Given the description of an element on the screen output the (x, y) to click on. 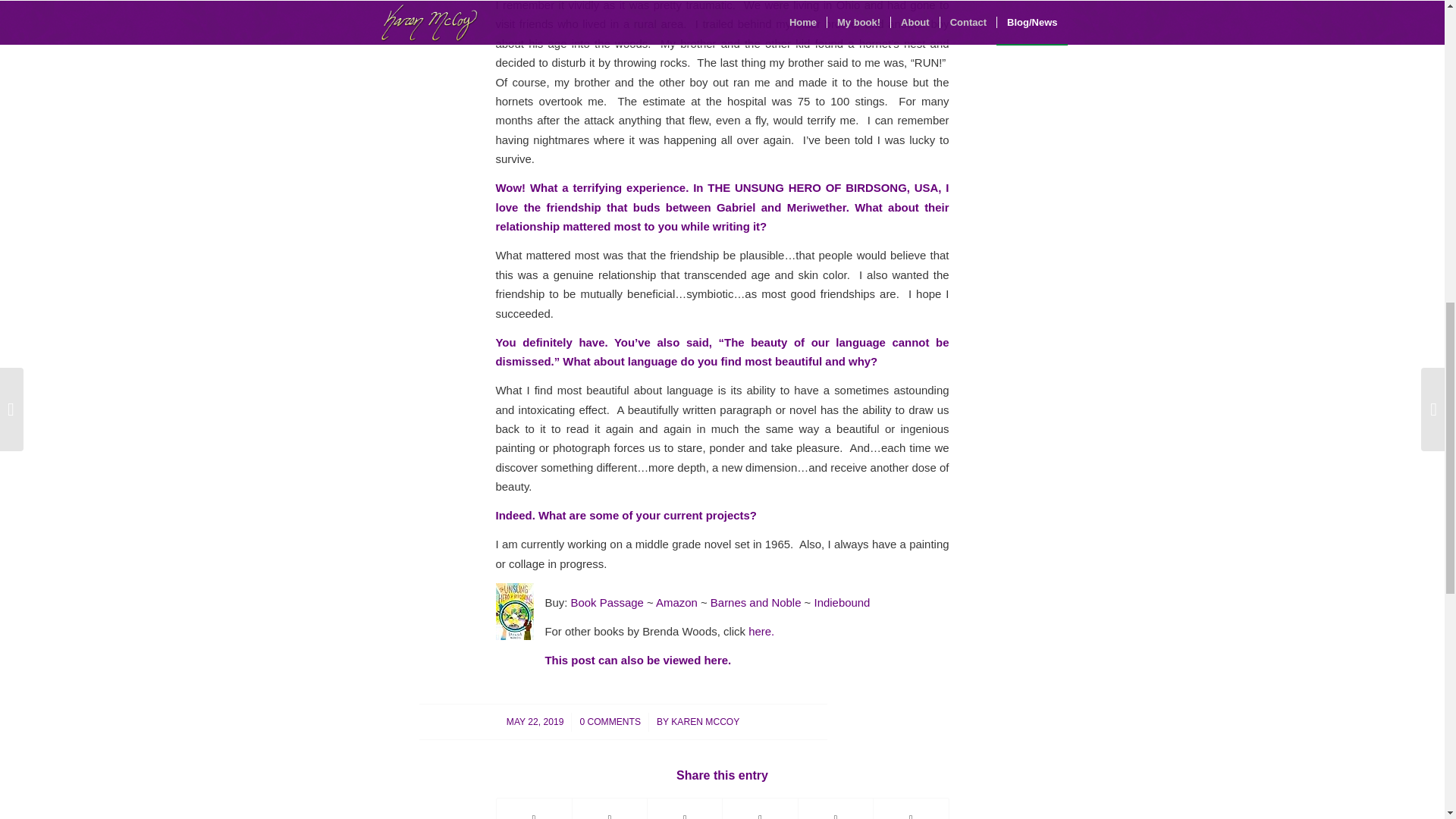
Barnes and Noble (756, 602)
Posts by Karen McCoy (705, 721)
Book Passage (606, 602)
0 COMMENTS (609, 721)
here (715, 659)
Indiebound (841, 602)
here. (761, 631)
Amazon (676, 602)
KAREN MCCOY (705, 721)
